Given the description of an element on the screen output the (x, y) to click on. 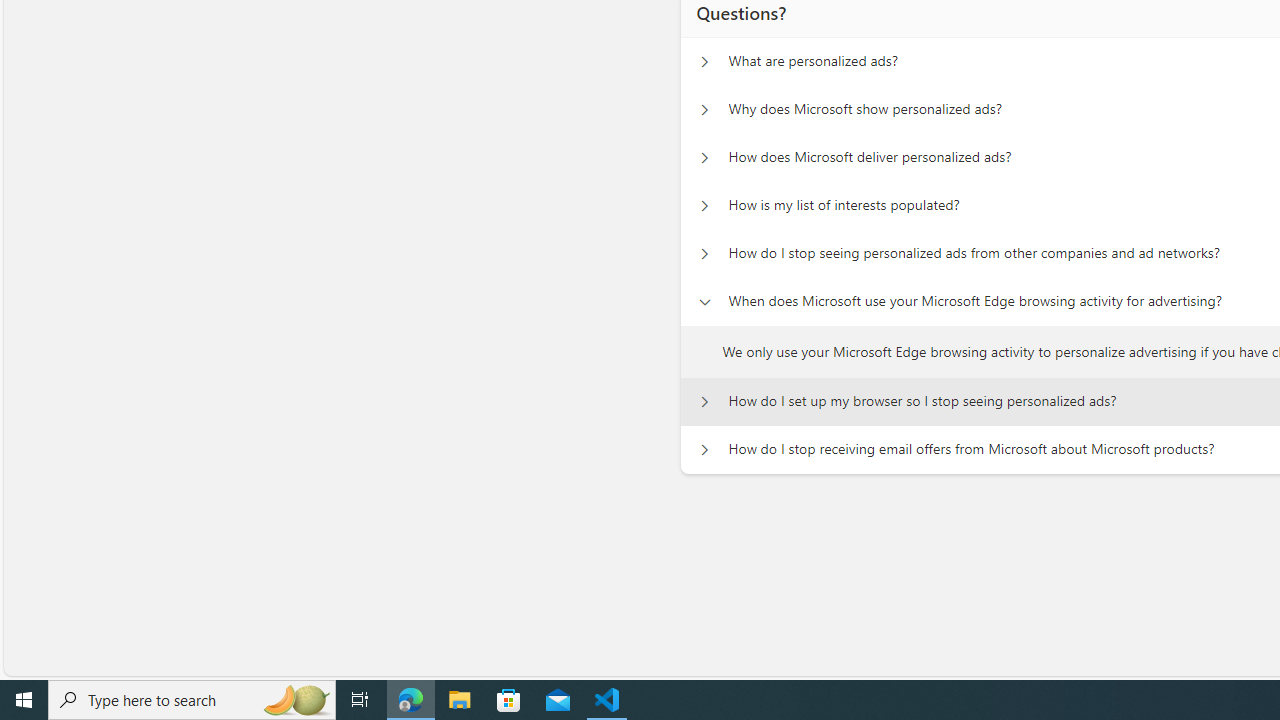
Questions? What are personalized ads? (704, 62)
Questions? How does Microsoft deliver personalized ads? (704, 157)
Questions? Why does Microsoft show personalized ads? (704, 110)
Questions? How is my list of interests populated? (704, 206)
